Given the description of an element on the screen output the (x, y) to click on. 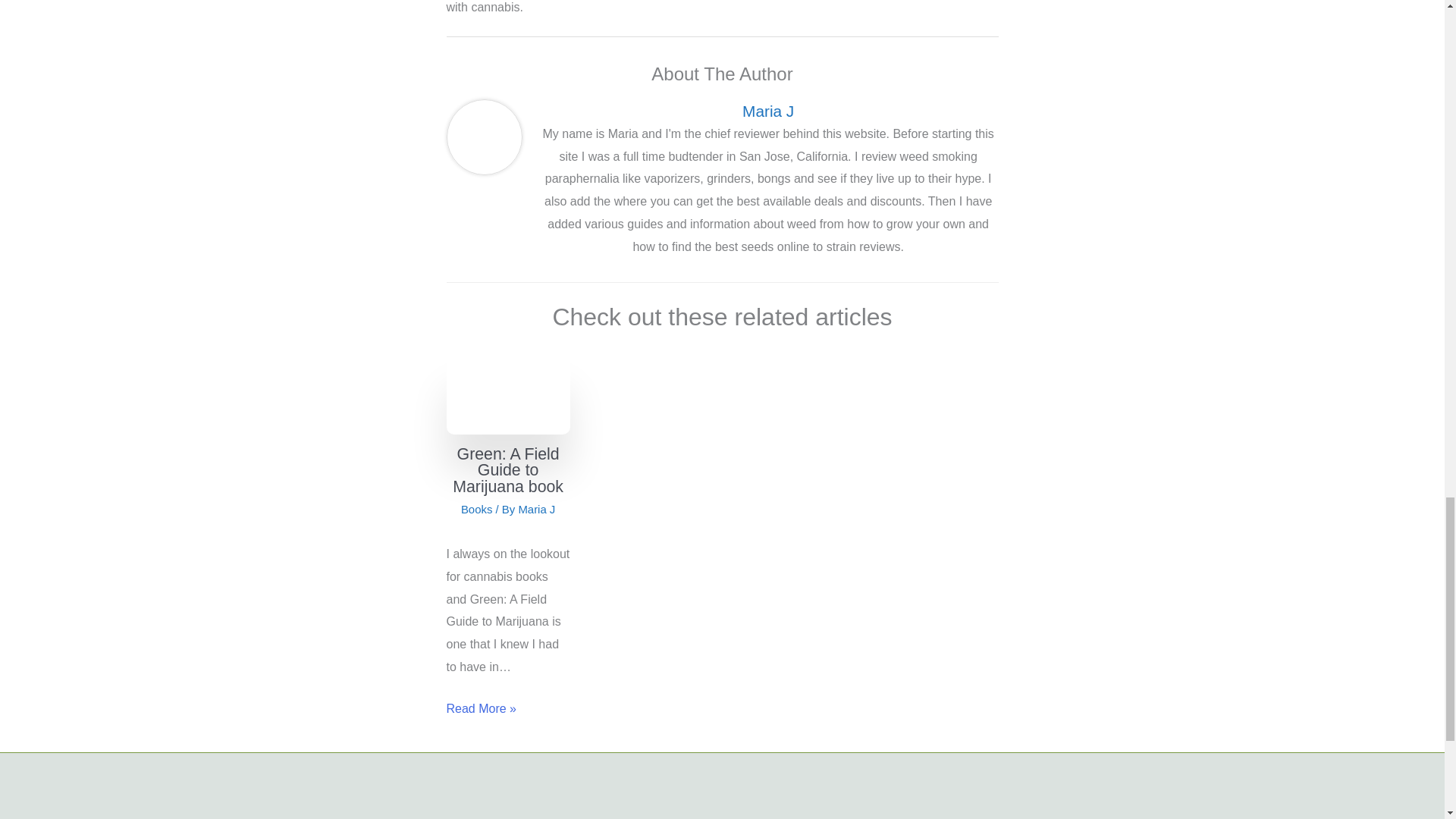
View all posts by Maria J (536, 508)
